Given the description of an element on the screen output the (x, y) to click on. 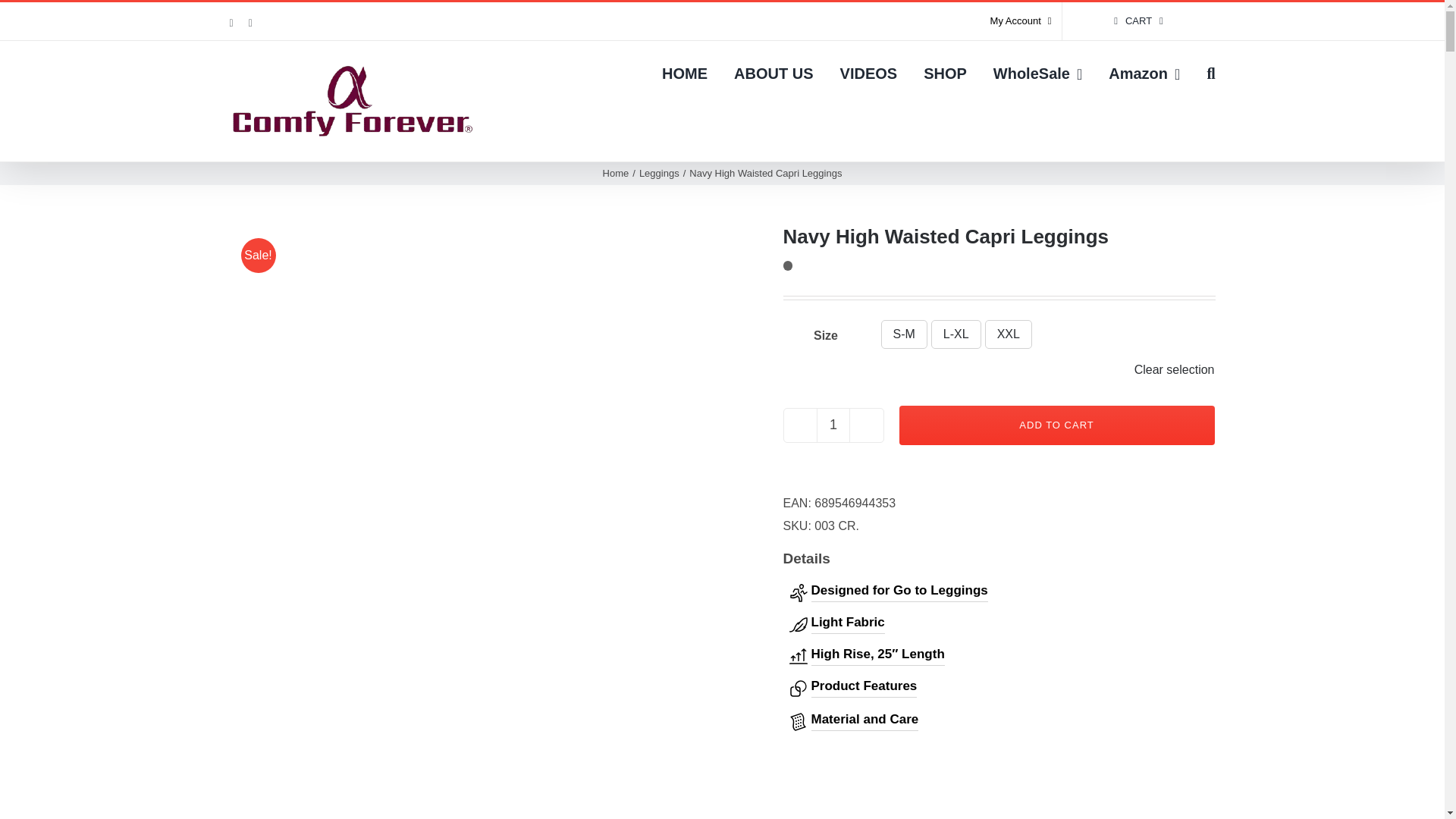
Leggings (659, 173)
Home (615, 173)
My Account (1020, 21)
WholeSale (1036, 72)
VIDEOS (869, 72)
CART (1138, 21)
Log In (1084, 165)
1 (833, 425)
ABOUT US (772, 72)
Amazon (1143, 72)
